Given the description of an element on the screen output the (x, y) to click on. 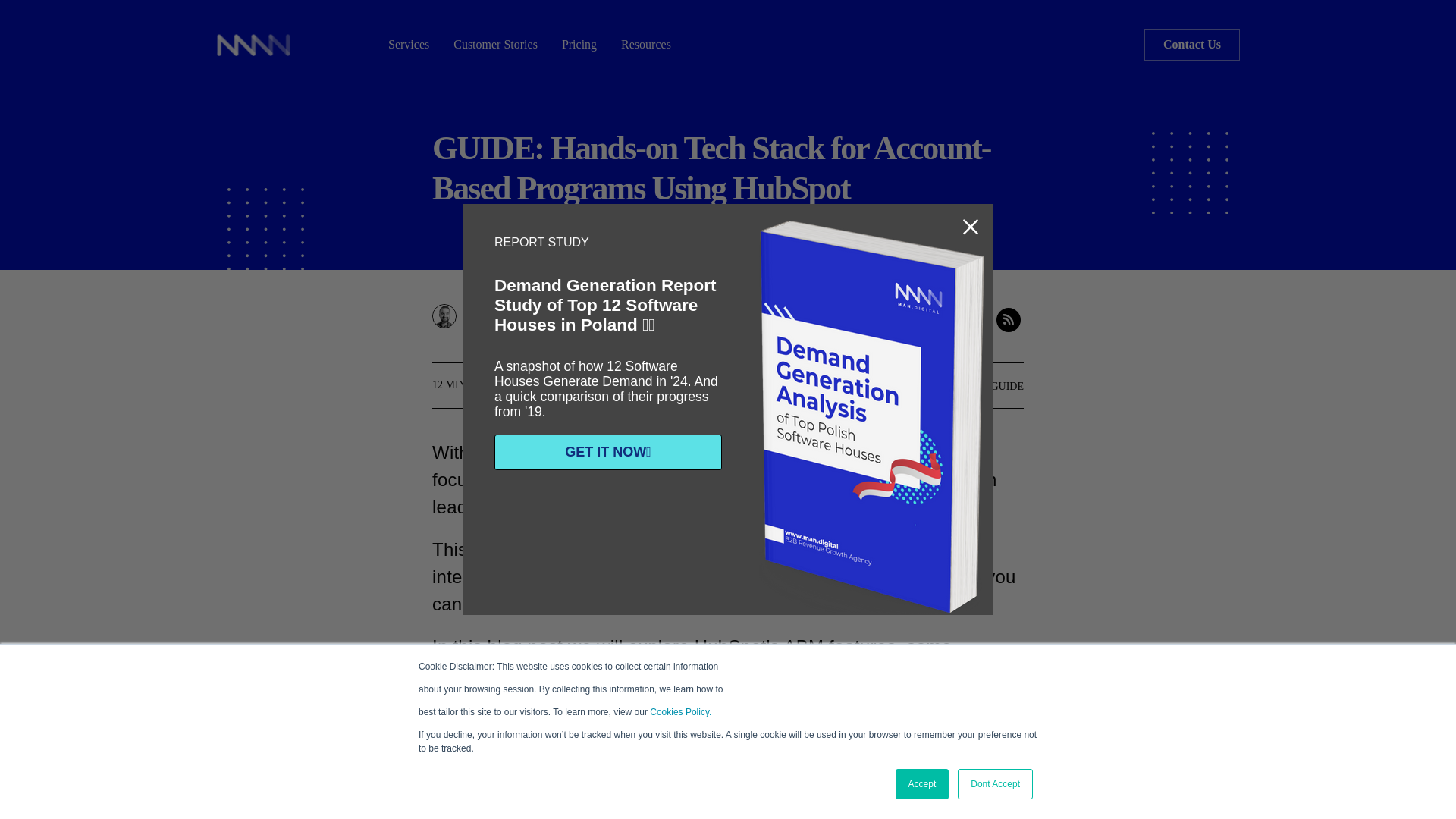
Dont Accept (995, 784)
Share on Twitter (978, 319)
Customer Stories (495, 44)
GUIDE (1006, 386)
rss (1007, 319)
Share on facebook (917, 319)
Accept (922, 784)
HUBSPOT (936, 386)
ABM (871, 386)
By Romeo Mann (520, 314)
Cookies Policy. (680, 711)
Share on LinkedIn (947, 319)
Contact Us (1192, 44)
